Given the description of an element on the screen output the (x, y) to click on. 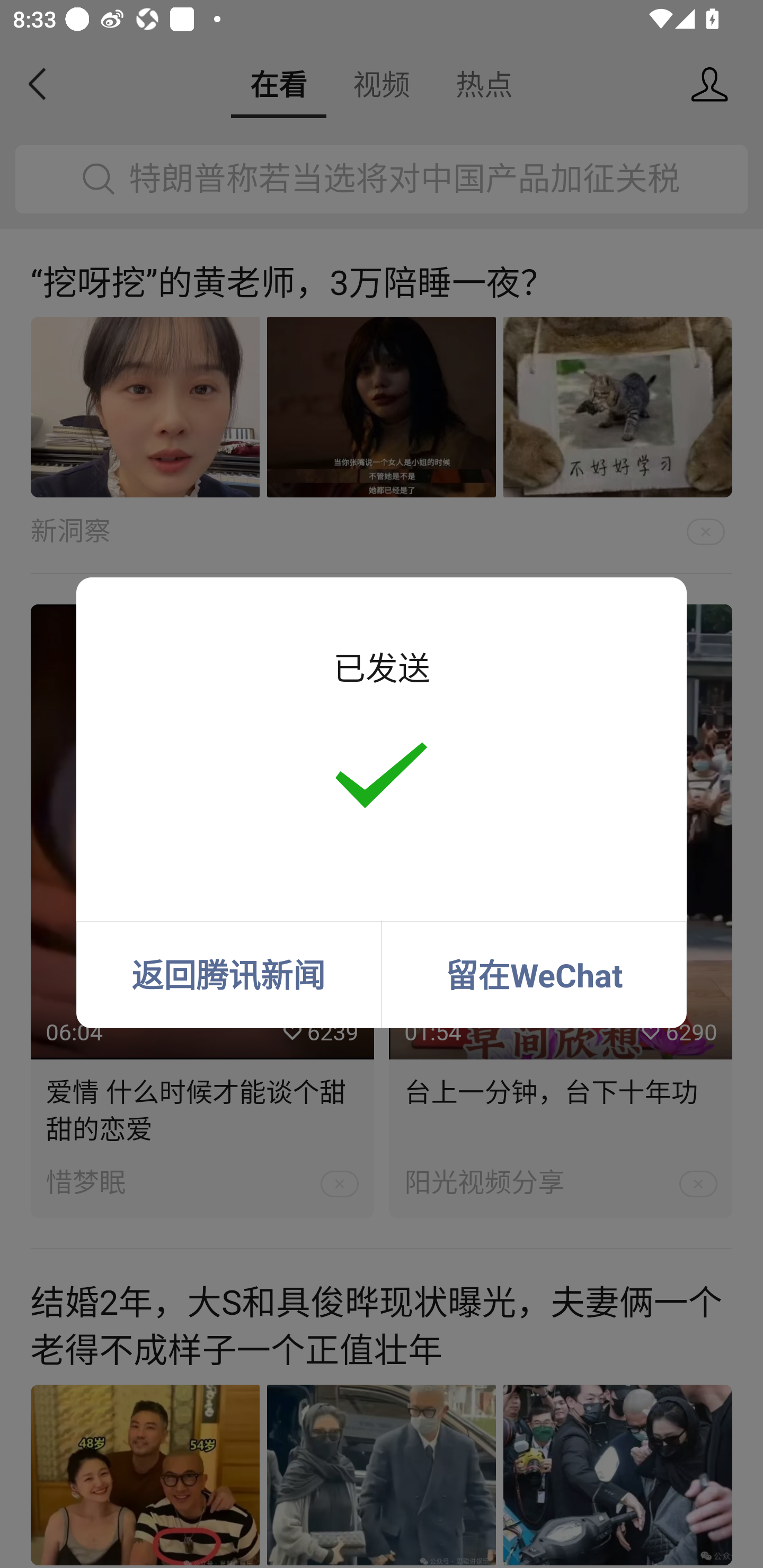
返回腾讯新闻 (228, 974)
留在WeChat (534, 974)
